Given the description of an element on the screen output the (x, y) to click on. 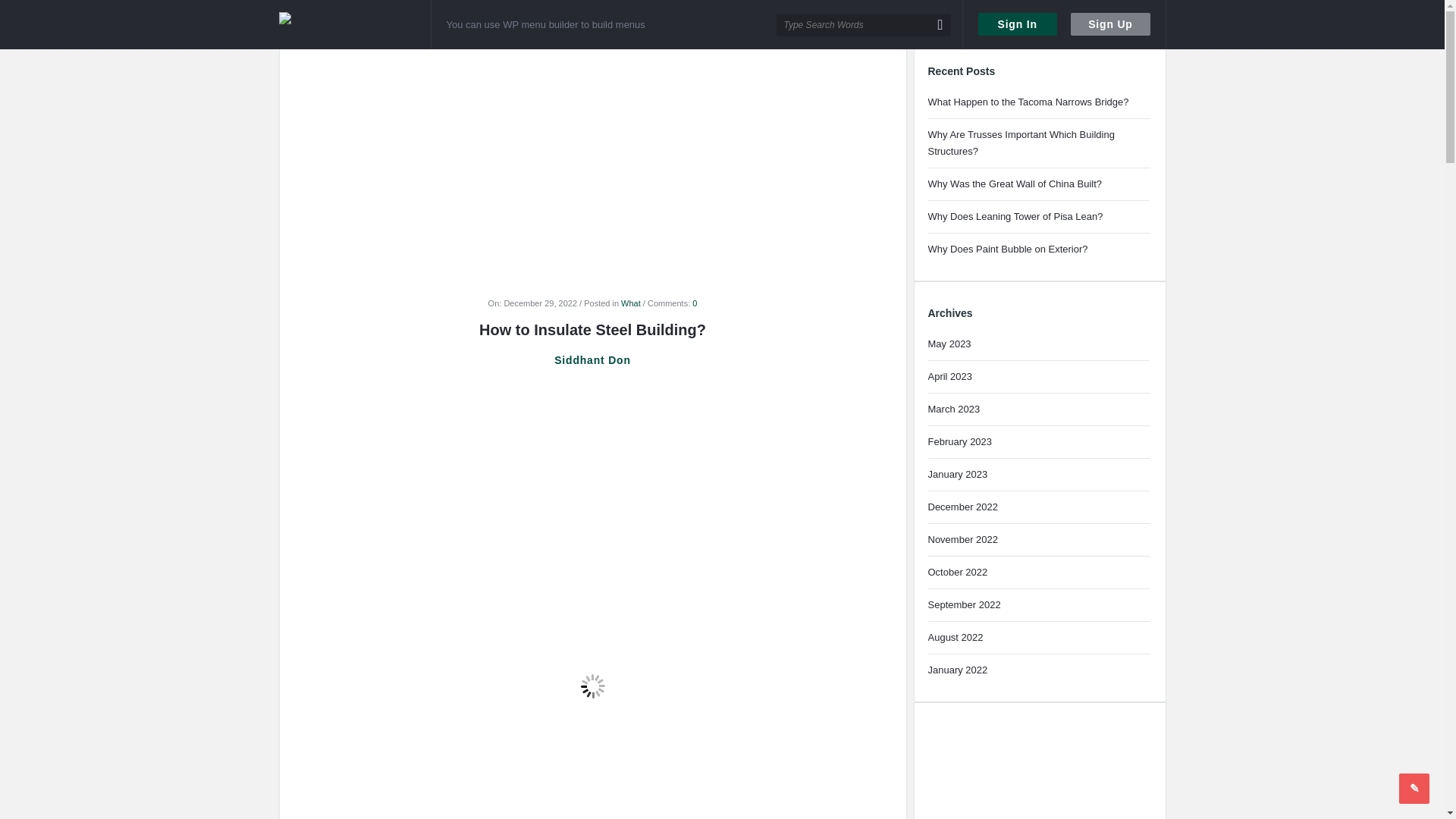
Civiljungle (343, 25)
Siddhant Don (592, 360)
Sign In (1017, 24)
Civiljungle (354, 24)
Sign Up (1110, 24)
What (630, 302)
